Given the description of an element on the screen output the (x, y) to click on. 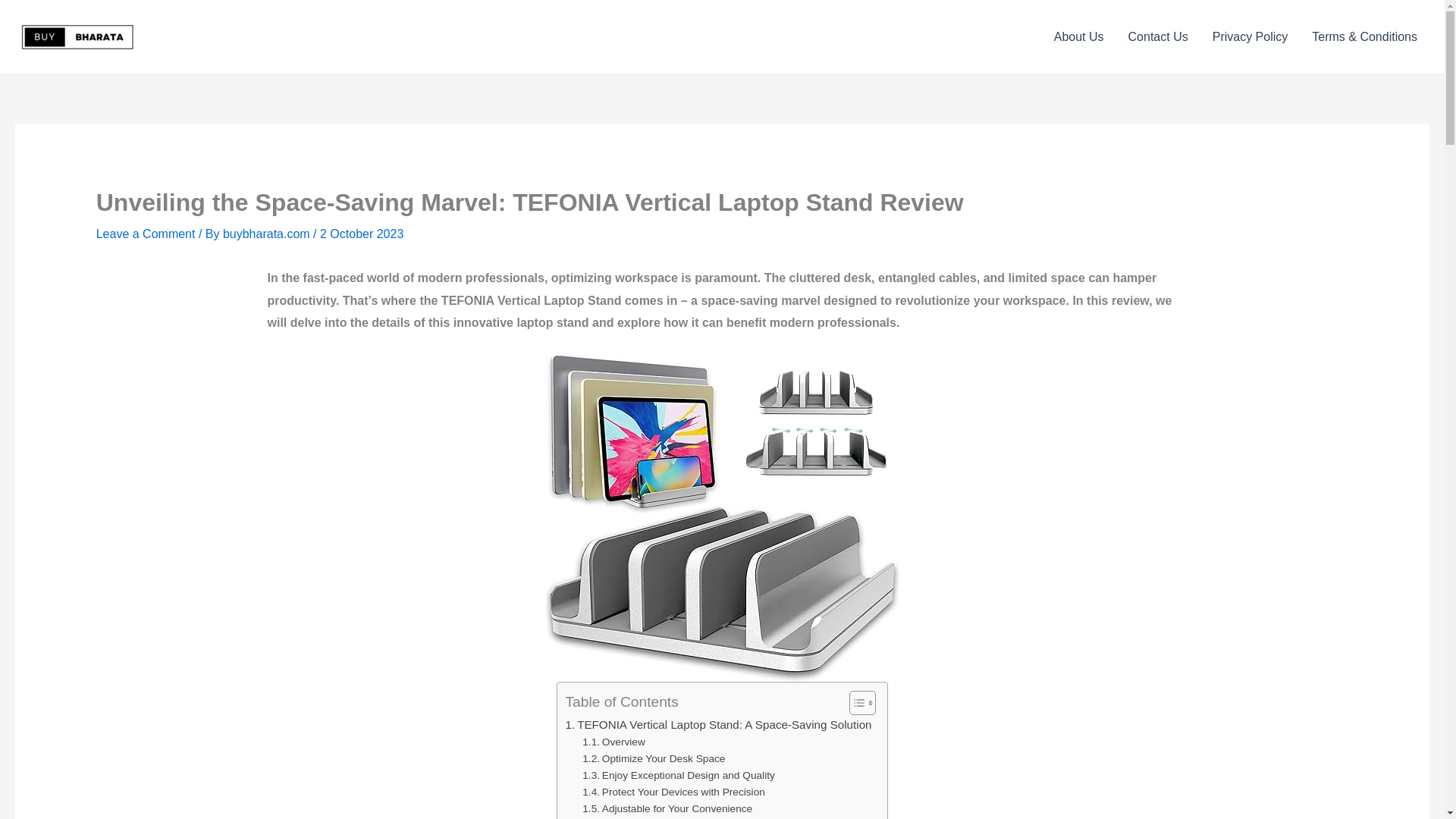
Contact Us (1157, 36)
Overview (613, 742)
Adjustable for Your Convenience (667, 808)
Stability Guaranteed (638, 817)
Overview (613, 742)
buybharata.com (267, 233)
Optimize Your Desk Space (653, 759)
About Us (1079, 36)
Leave a Comment (145, 233)
Enjoy Exceptional Design and Quality (678, 775)
TEFONIA Vertical Laptop Stand: A Space-Saving Solution (717, 724)
Enjoy Exceptional Design and Quality (678, 775)
Privacy Policy (1249, 36)
Optimize Your Desk Space (653, 759)
View all posts by buybharata.com (267, 233)
